Given the description of an element on the screen output the (x, y) to click on. 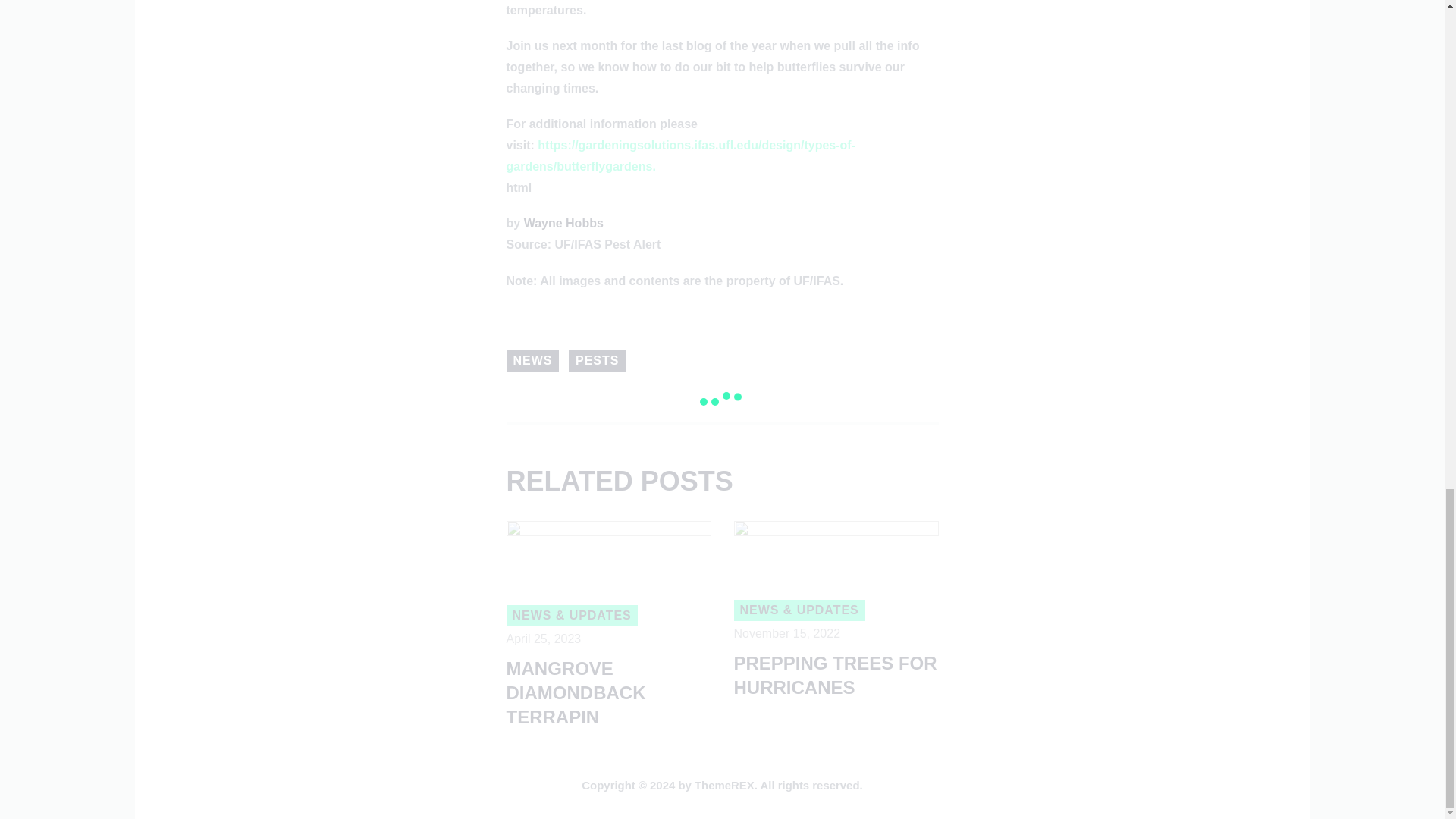
MANGROVE DIAMONDBACK TERRAPIN (608, 692)
NEWS (532, 360)
PREPPING TREES FOR HURRICANES (836, 675)
PESTS (597, 360)
